Given the description of an element on the screen output the (x, y) to click on. 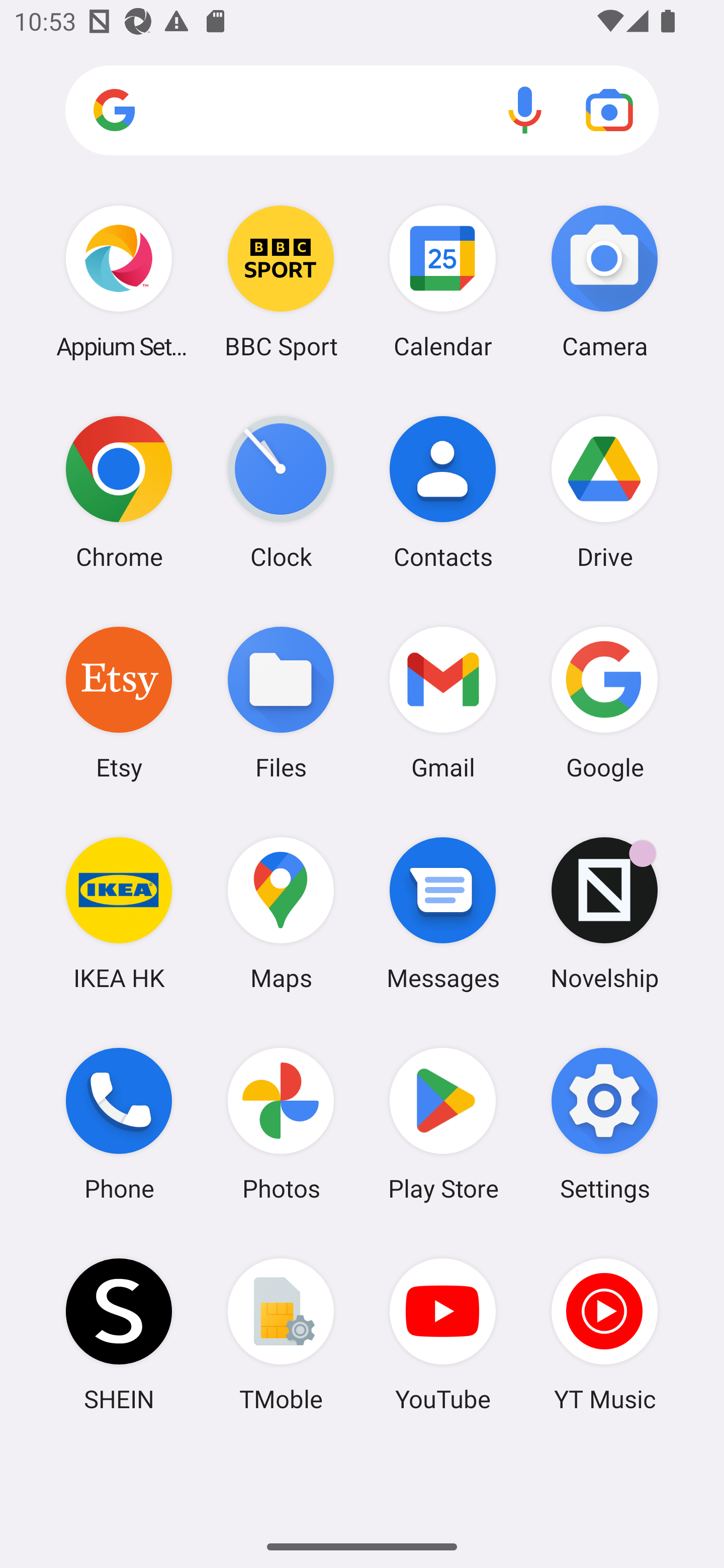
Search apps, web and more (361, 110)
Voice search (524, 109)
Google Lens (608, 109)
Appium Settings (118, 281)
BBC Sport (280, 281)
Calendar (443, 281)
Camera (604, 281)
Chrome (118, 492)
Clock (280, 492)
Contacts (443, 492)
Drive (604, 492)
Etsy (118, 702)
Files (280, 702)
Gmail (443, 702)
Google (604, 702)
IKEA HK (118, 913)
Maps (280, 913)
Messages (443, 913)
Novelship Novelship has 2 notifications (604, 913)
Phone (118, 1124)
Photos (280, 1124)
Play Store (443, 1124)
Settings (604, 1124)
SHEIN (118, 1334)
TMoble (280, 1334)
YouTube (443, 1334)
YT Music (604, 1334)
